Given the description of an element on the screen output the (x, y) to click on. 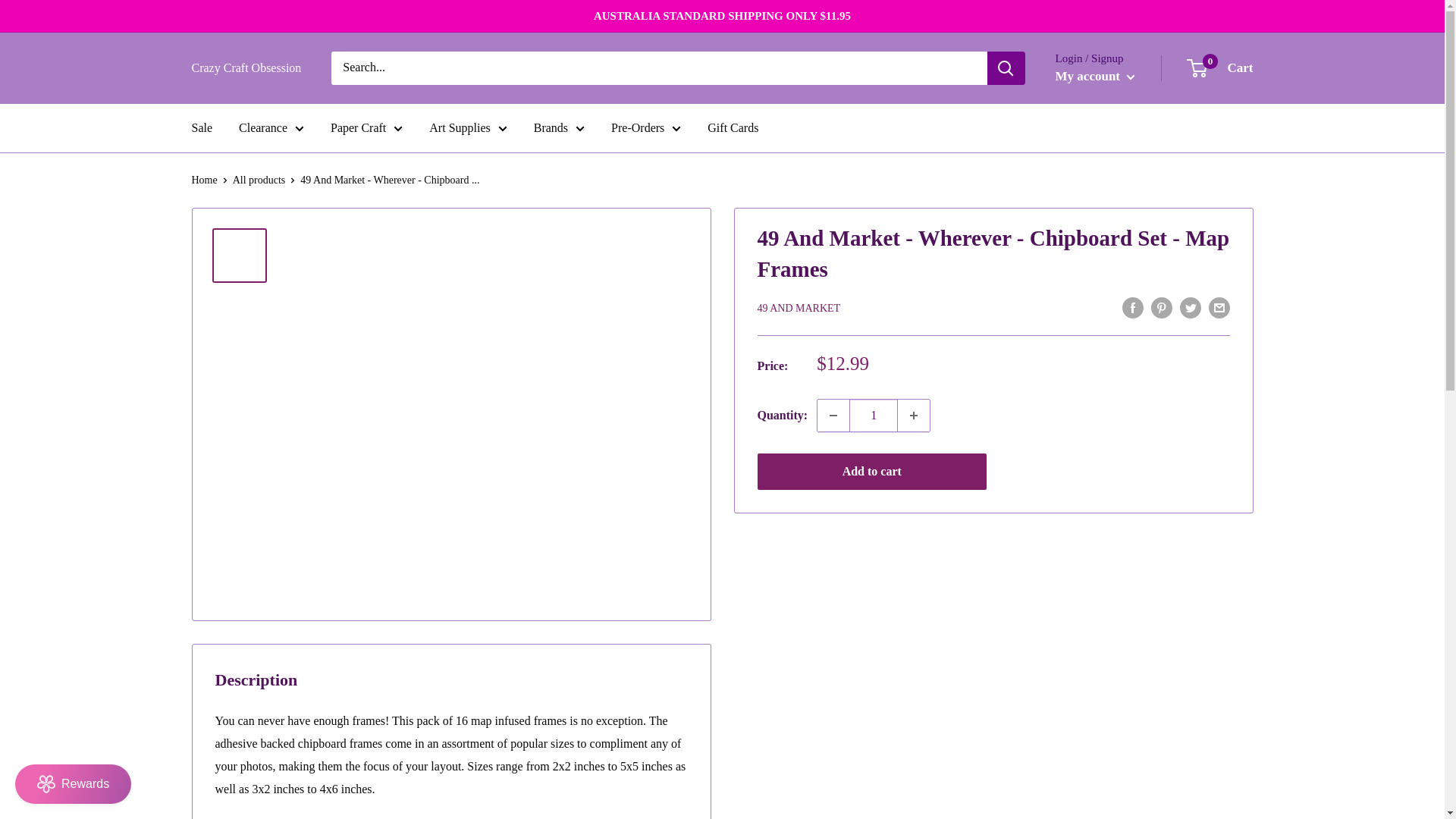
Increase quantity by 1 (914, 415)
1 (873, 415)
Decrease quantity by 1 (832, 415)
